Given the description of an element on the screen output the (x, y) to click on. 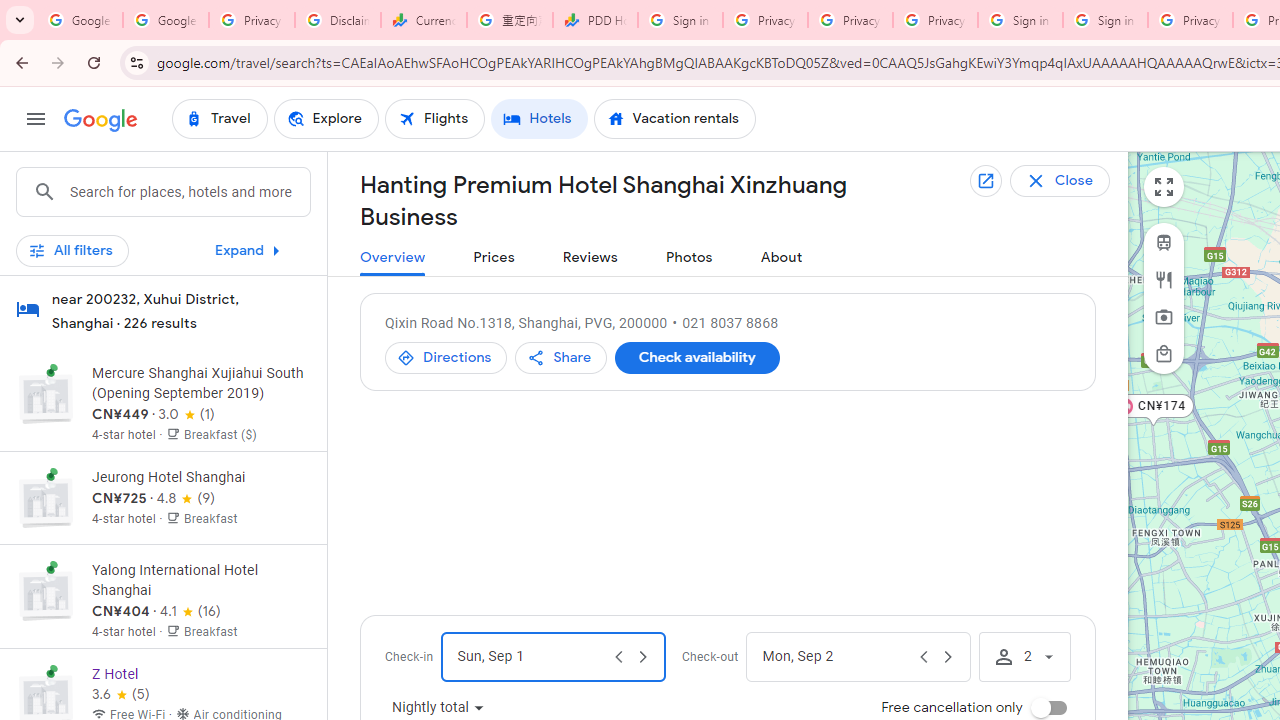
Privacy Checkup (850, 20)
Free cancellation only (1048, 707)
Check availability (696, 357)
4.8 out of 5 stars from 9 reviews (185, 498)
Search for places, hotels and more (189, 191)
Prices (493, 258)
